Given the description of an element on the screen output the (x, y) to click on. 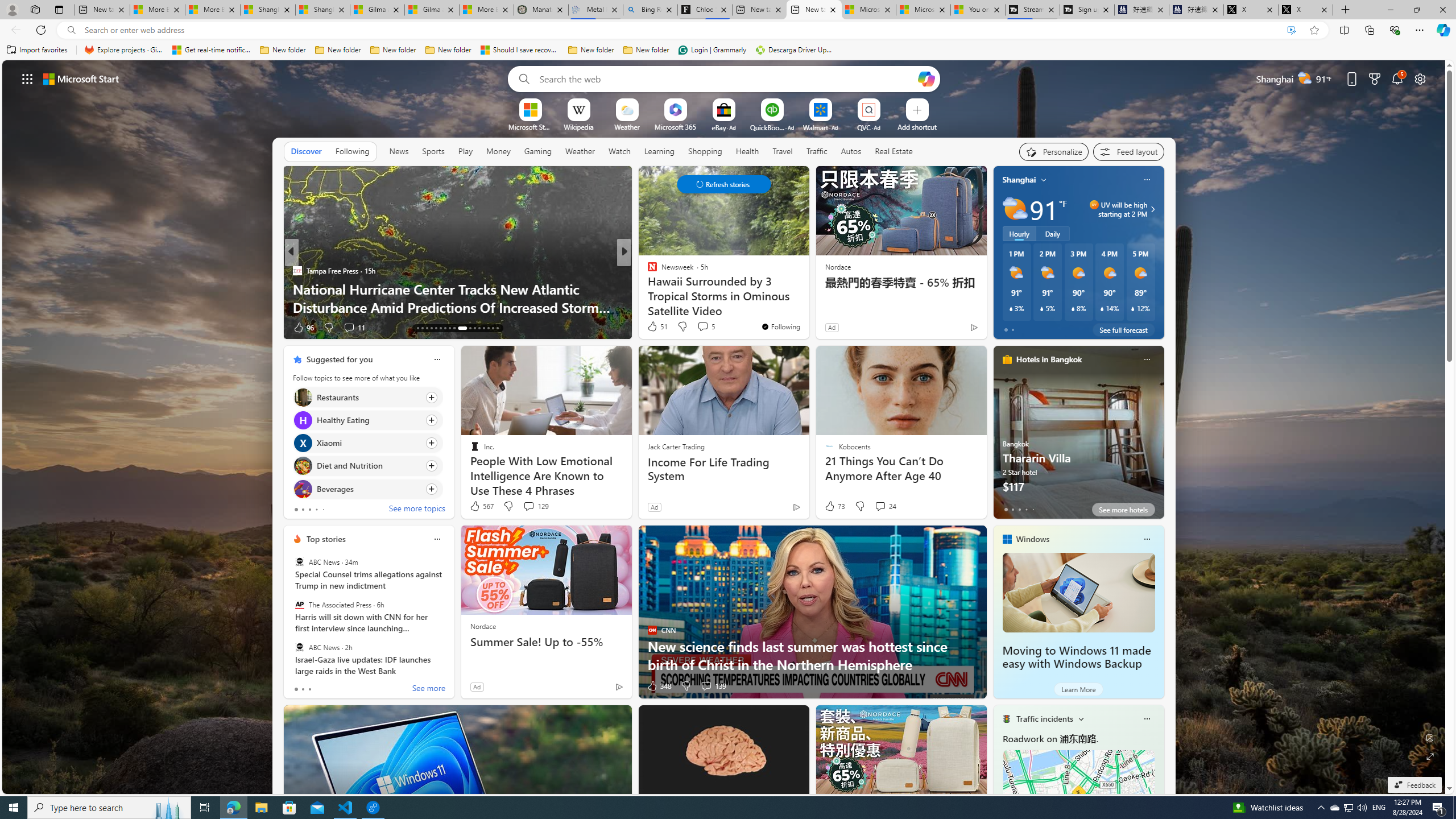
Partly sunny (1014, 208)
tab-2 (309, 689)
Income For Life Trading System (723, 469)
22 Like (652, 327)
Should I save recovered Word documents? - Microsoft Support (519, 49)
AutomationID: backgroundImagePicture (723, 426)
AutomationID: tab-26 (461, 328)
AutomationID: tab-18 (422, 328)
Shanghai (1018, 179)
